Given the description of an element on the screen output the (x, y) to click on. 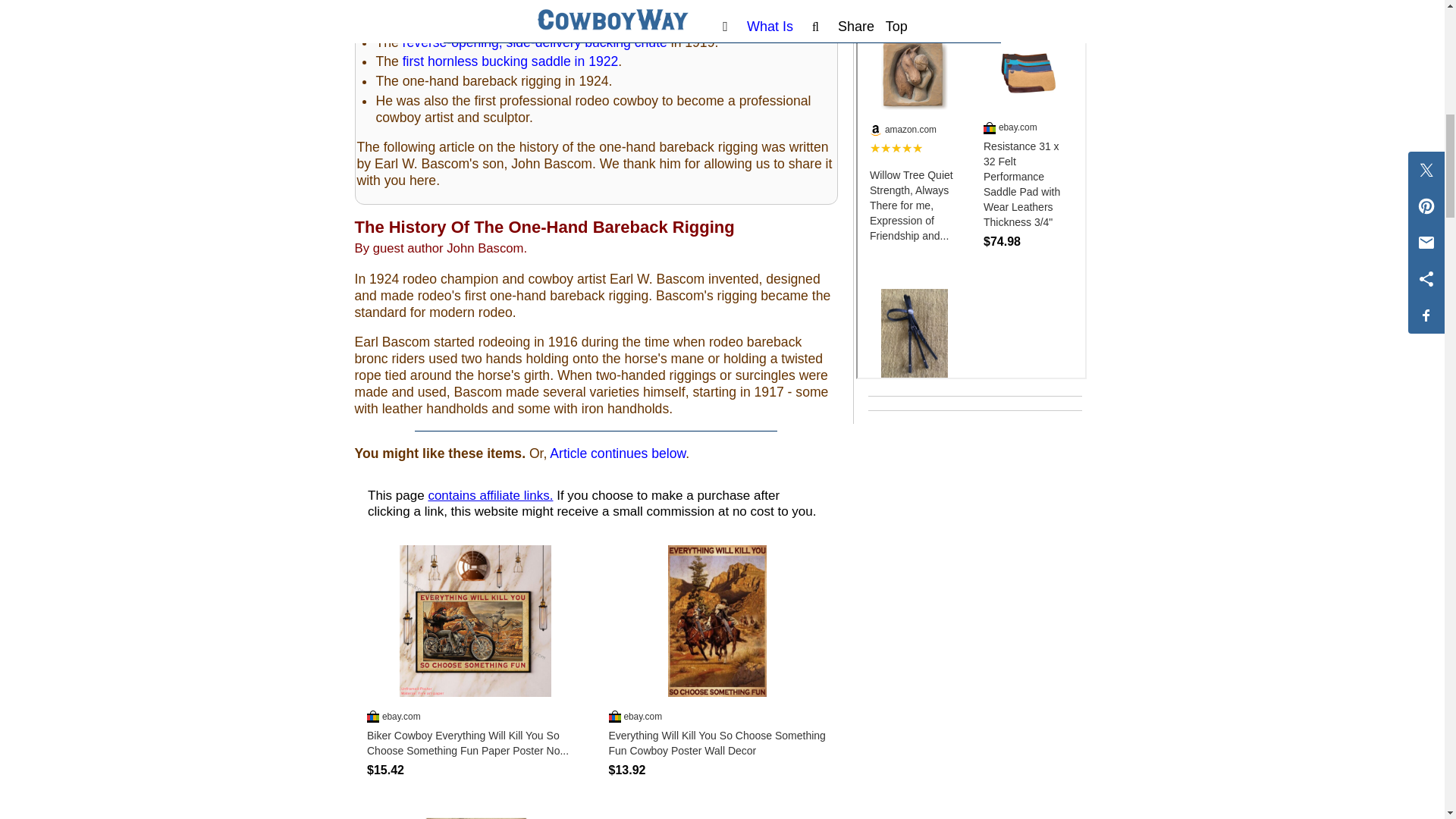
Article continues below (617, 453)
reverse-opening, side-delivery bucking chute (534, 42)
first hornless bucking saddle in 1922 (510, 61)
